Given the description of an element on the screen output the (x, y) to click on. 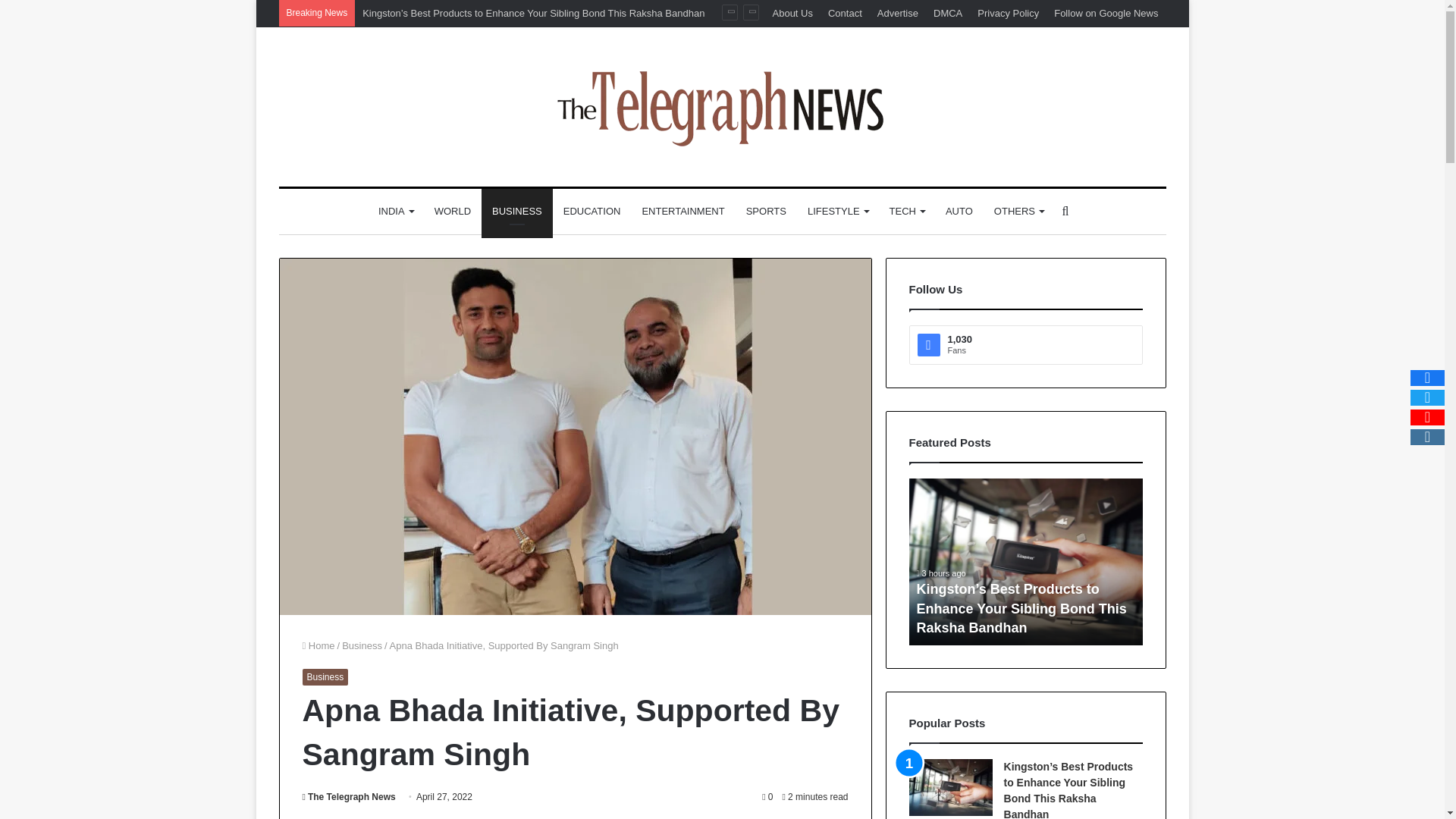
SPORTS (765, 211)
Advertise (897, 13)
Business (324, 677)
AUTO (959, 211)
BUSINESS (517, 211)
Follow on Google News (1106, 13)
LIFESTYLE (837, 211)
INDIA (395, 211)
WORLD (452, 211)
The Telegraph News (347, 796)
